Given the description of an element on the screen output the (x, y) to click on. 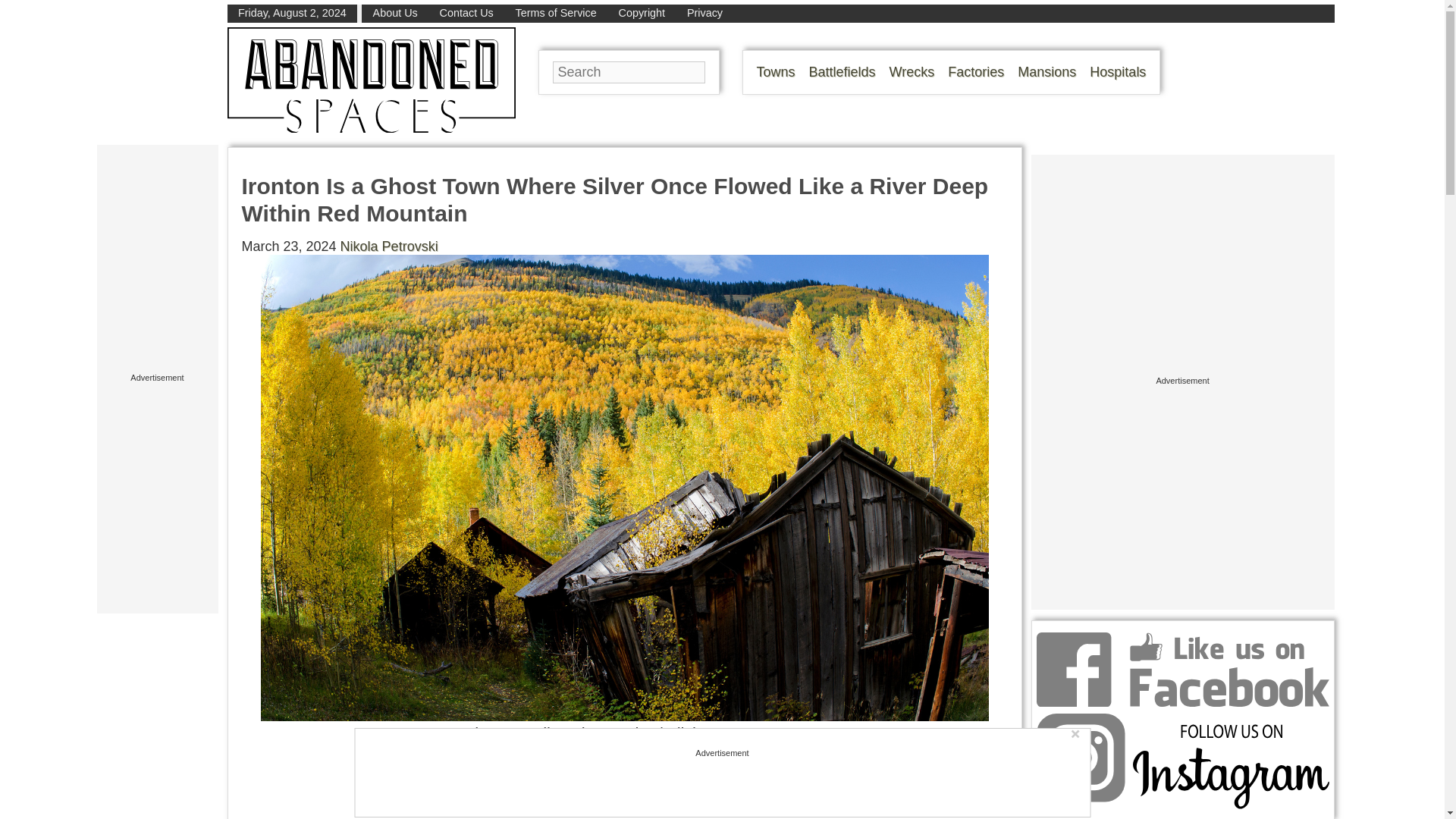
About Us (394, 12)
Terms of Service (555, 12)
Factories (975, 71)
Nikola Petrovski (389, 246)
Hospitals (1117, 71)
Towns (775, 71)
Copyright (641, 12)
Battlefields (842, 71)
Mansions (1046, 71)
Wrecks (911, 71)
Contact Us (466, 12)
Privacy (704, 12)
